Given the description of an element on the screen output the (x, y) to click on. 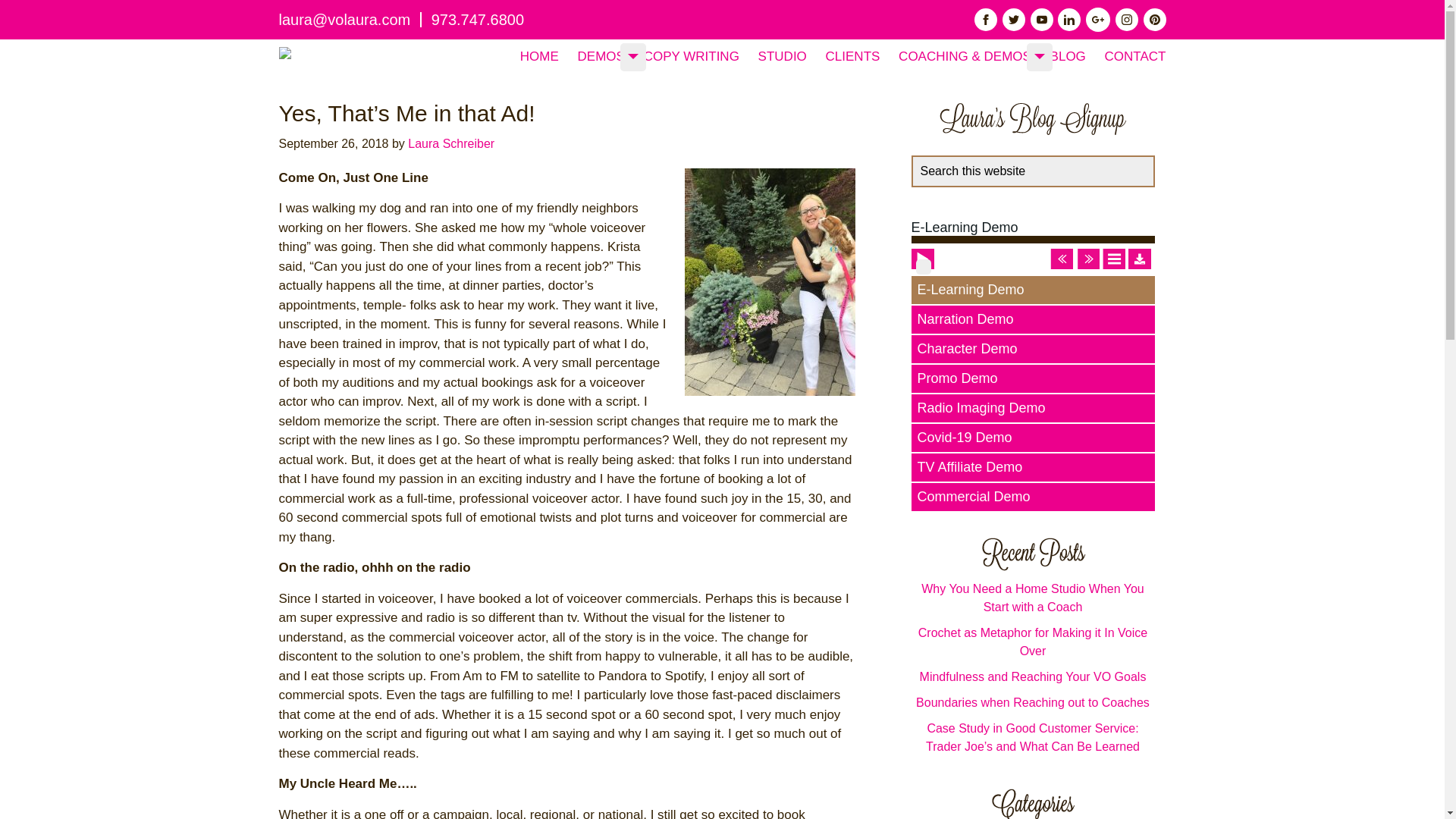
COPY WRITING (691, 56)
Laura Schreiber Voiceovers Recent Post (1031, 553)
Submenu (1039, 56)
HOME (539, 56)
facebook (985, 19)
Youtube (1041, 19)
CLIENTS (852, 56)
Instagram (1126, 19)
Play (923, 266)
Pinterest (1154, 19)
DEMOS (601, 56)
Search (1160, 163)
Submenu (633, 56)
STUDIO (782, 56)
Linkedin (1069, 19)
